Given the description of an element on the screen output the (x, y) to click on. 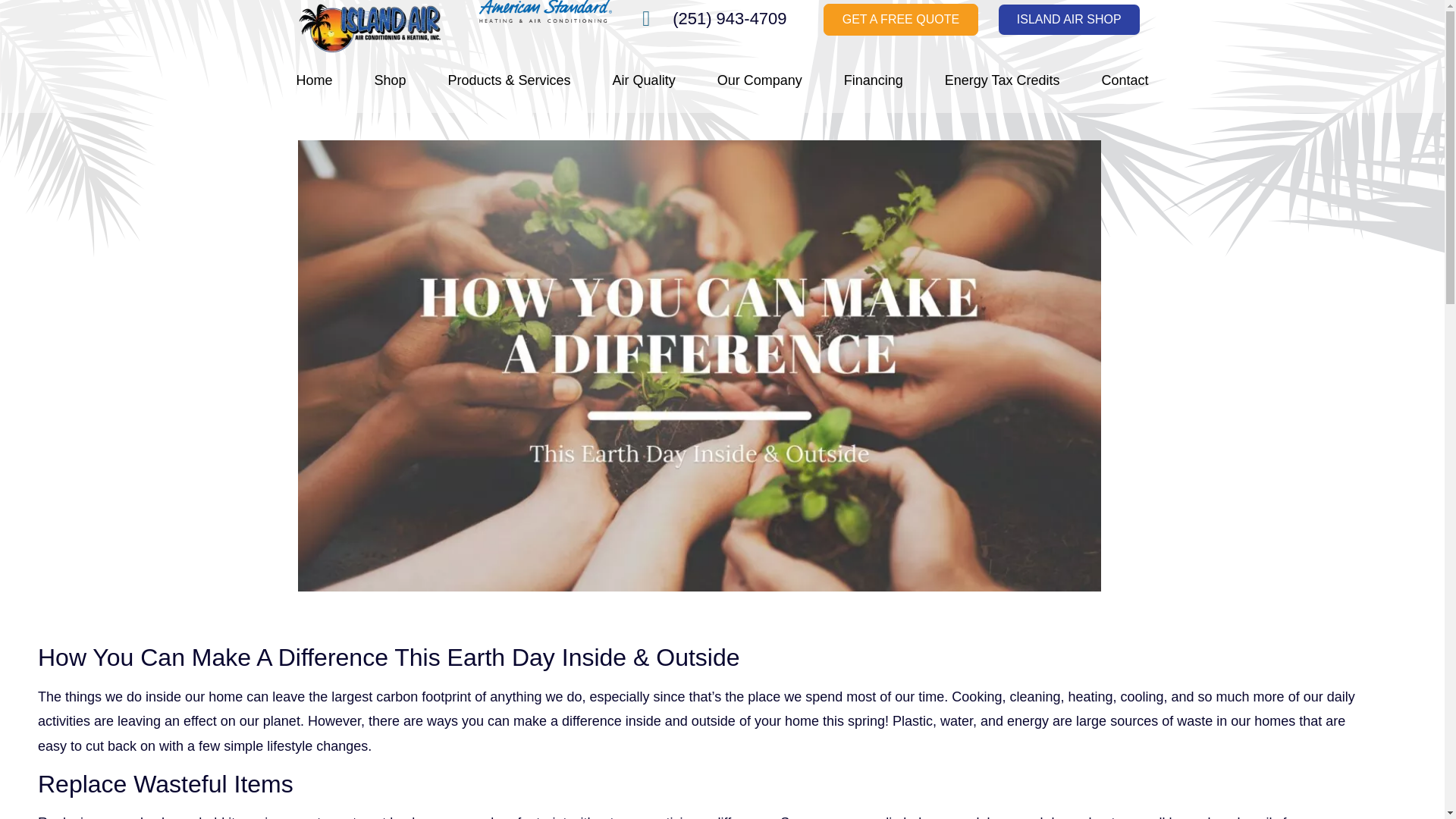
GET A FREE QUOTE (901, 19)
island-air-orange-beach-hvac-air-conditioning.png (369, 29)
